Given the description of an element on the screen output the (x, y) to click on. 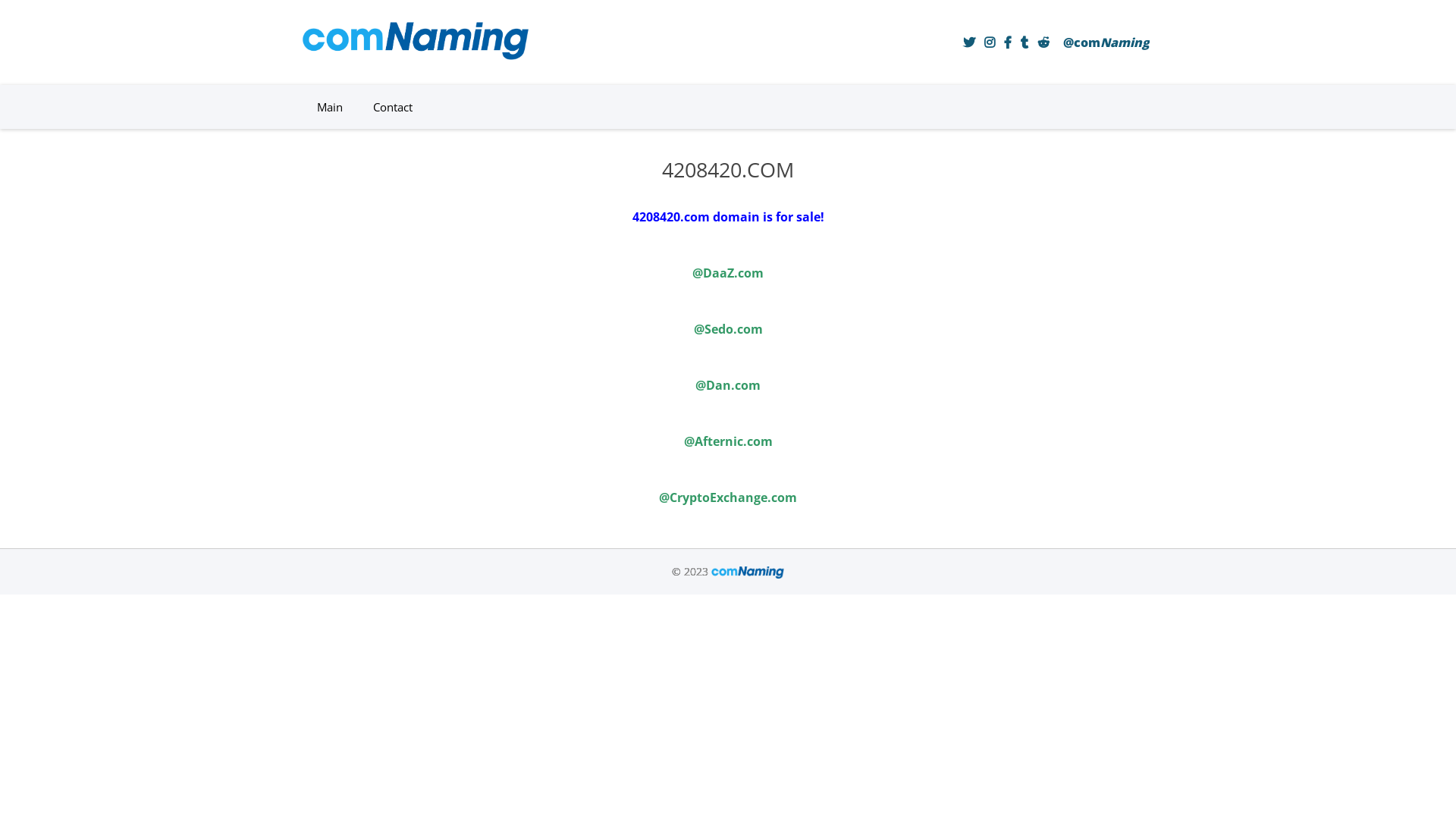
comNaming Element type: hover (415, 55)
@Dan.com Element type: text (727, 384)
@Afternic.com Element type: text (728, 441)
Contact Element type: text (392, 106)
@DaaZ.com Element type: text (727, 272)
Main Element type: text (329, 106)
@Sedo.com Element type: text (727, 328)
@CryptoExchange.com Element type: text (727, 497)
